Given the description of an element on the screen output the (x, y) to click on. 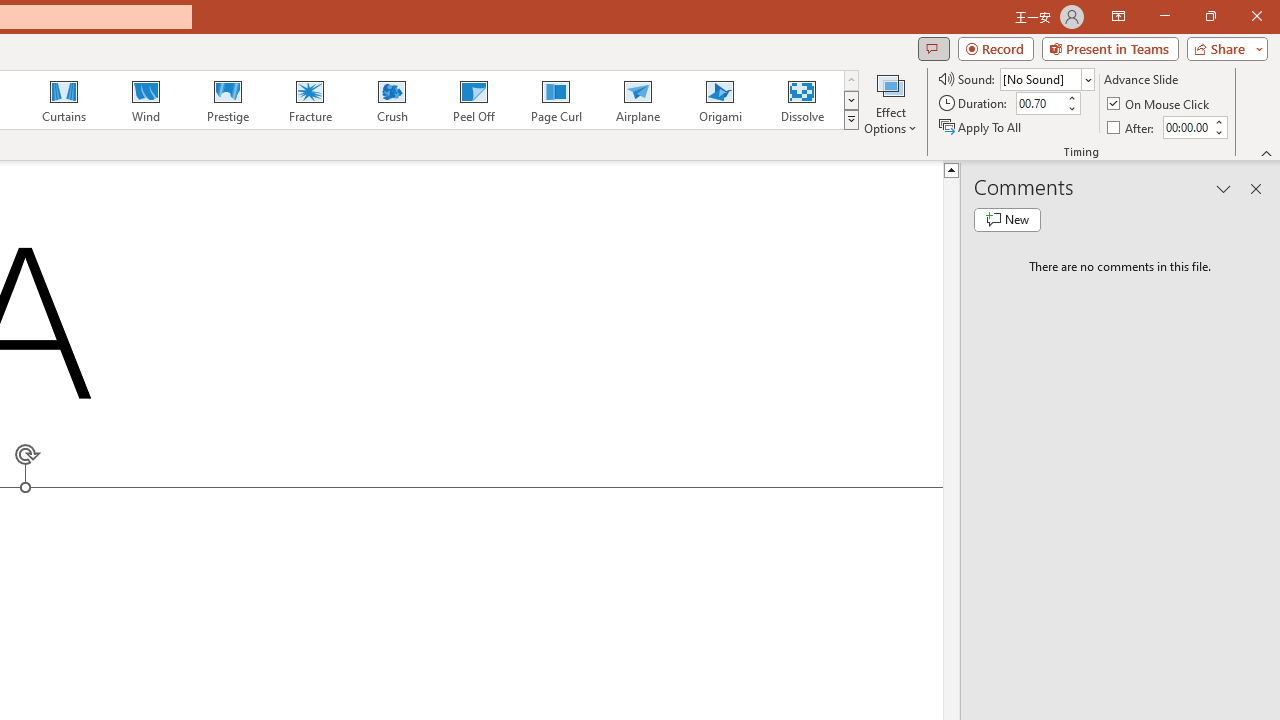
Page Curl (555, 100)
Wind (145, 100)
Effect Options (890, 102)
Crush (391, 100)
Duration (1039, 103)
Prestige (227, 100)
After (1131, 126)
Curtains (63, 100)
